Given the description of an element on the screen output the (x, y) to click on. 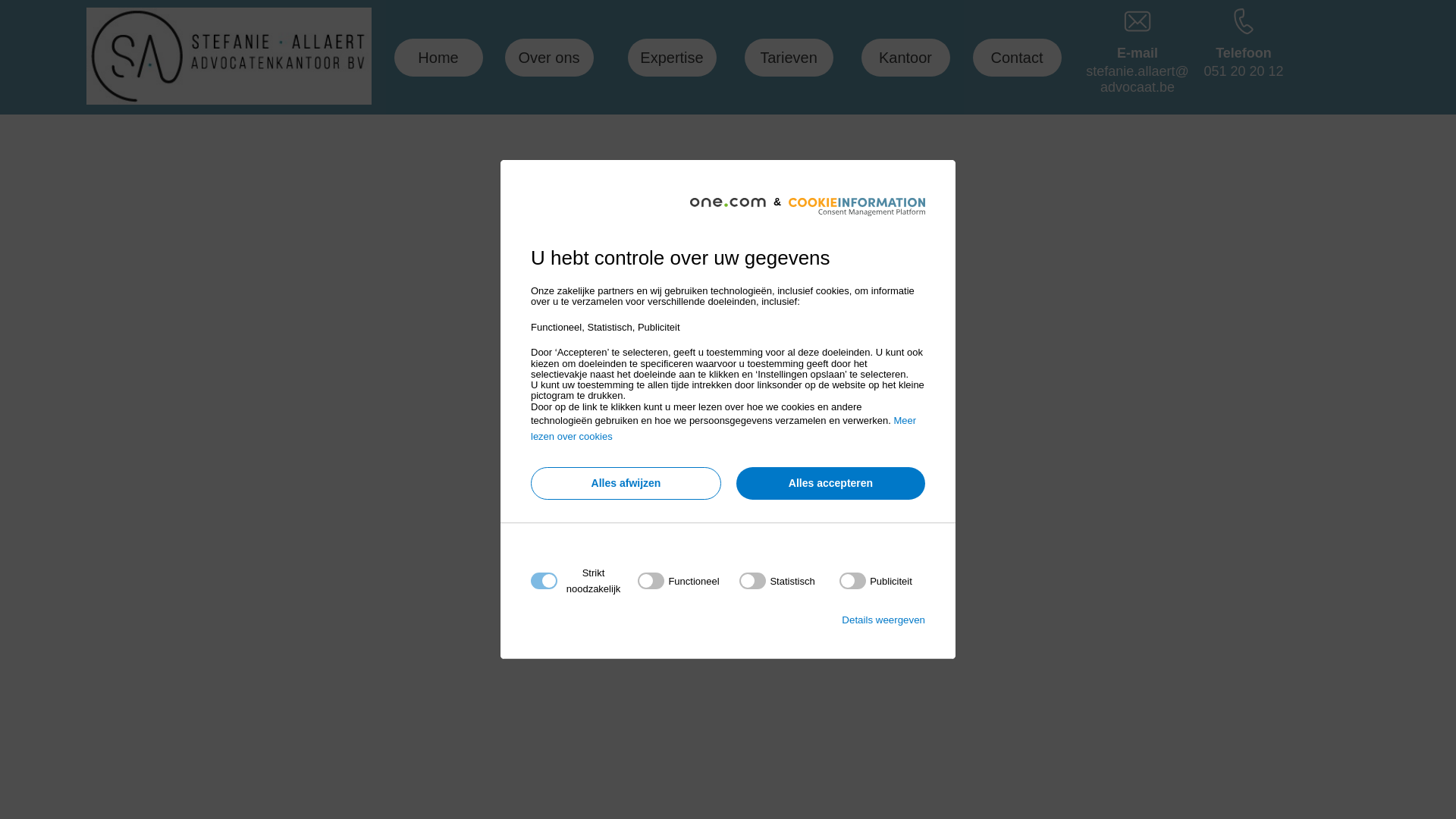
Functioneel Element type: text (723, 763)
Tarieven Element type: text (788, 57)
Contact Element type: text (1016, 57)
Expertise Element type: text (671, 57)
on Element type: text (677, 580)
Alles afwijzen Element type: text (625, 483)
on Element type: text (875, 580)
stefanie.allaert@advocaat.be Element type: text (1136, 79)
051 20 20 12 Element type: text (1243, 70)
Kantoor Element type: text (905, 57)
Alles accepteren Element type: text (830, 483)
Meer lezen over cookies Element type: text (723, 428)
on Element type: text (776, 580)
Details weergeven Element type: text (883, 619)
Home Element type: text (438, 57)
Strikt noodzakelijk Element type: text (723, 673)
Over ons Element type: text (549, 57)
